Given the description of an element on the screen output the (x, y) to click on. 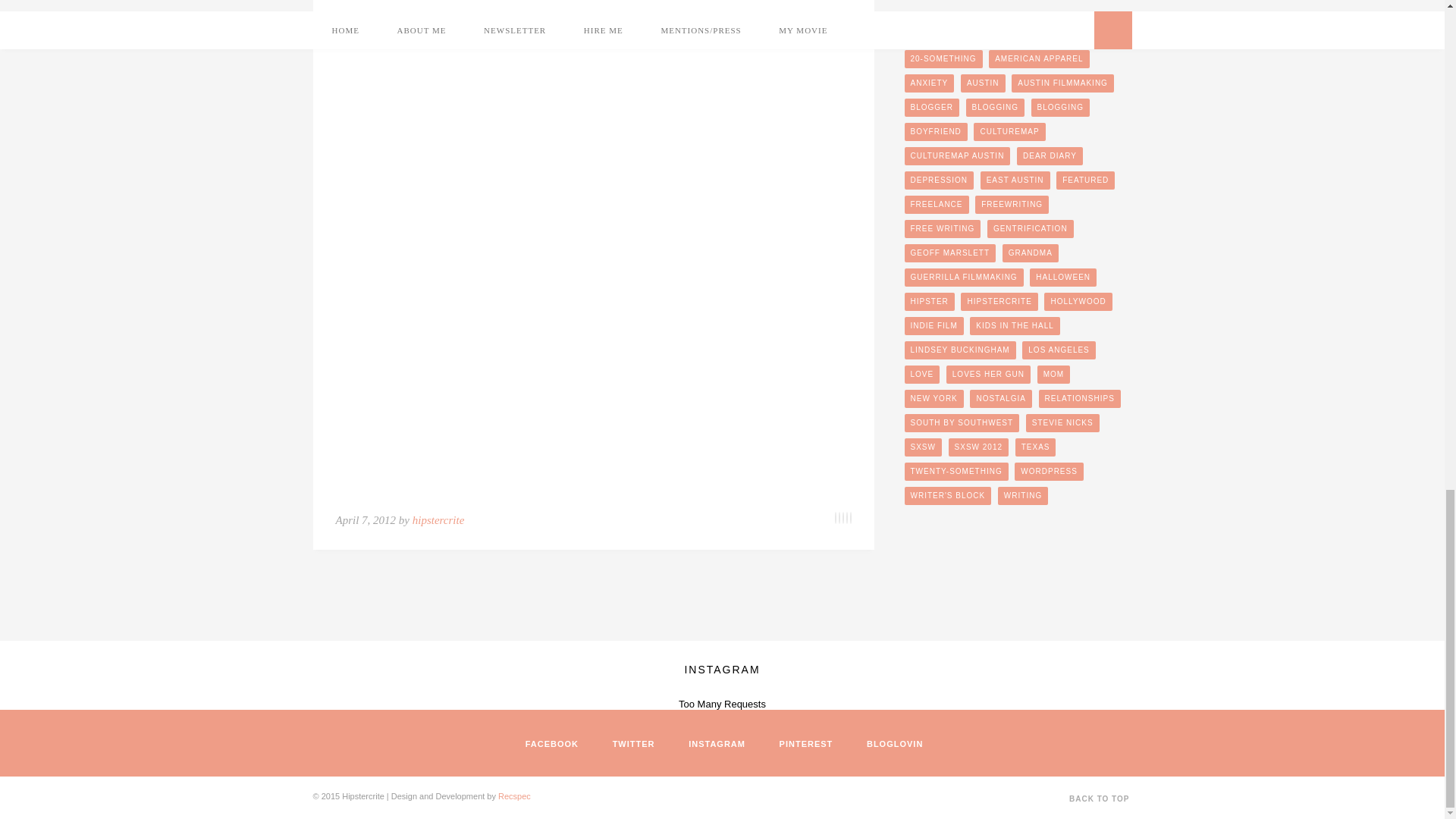
Posts by hipstercrite (438, 520)
hipstercrite (438, 520)
